Given the description of an element on the screen output the (x, y) to click on. 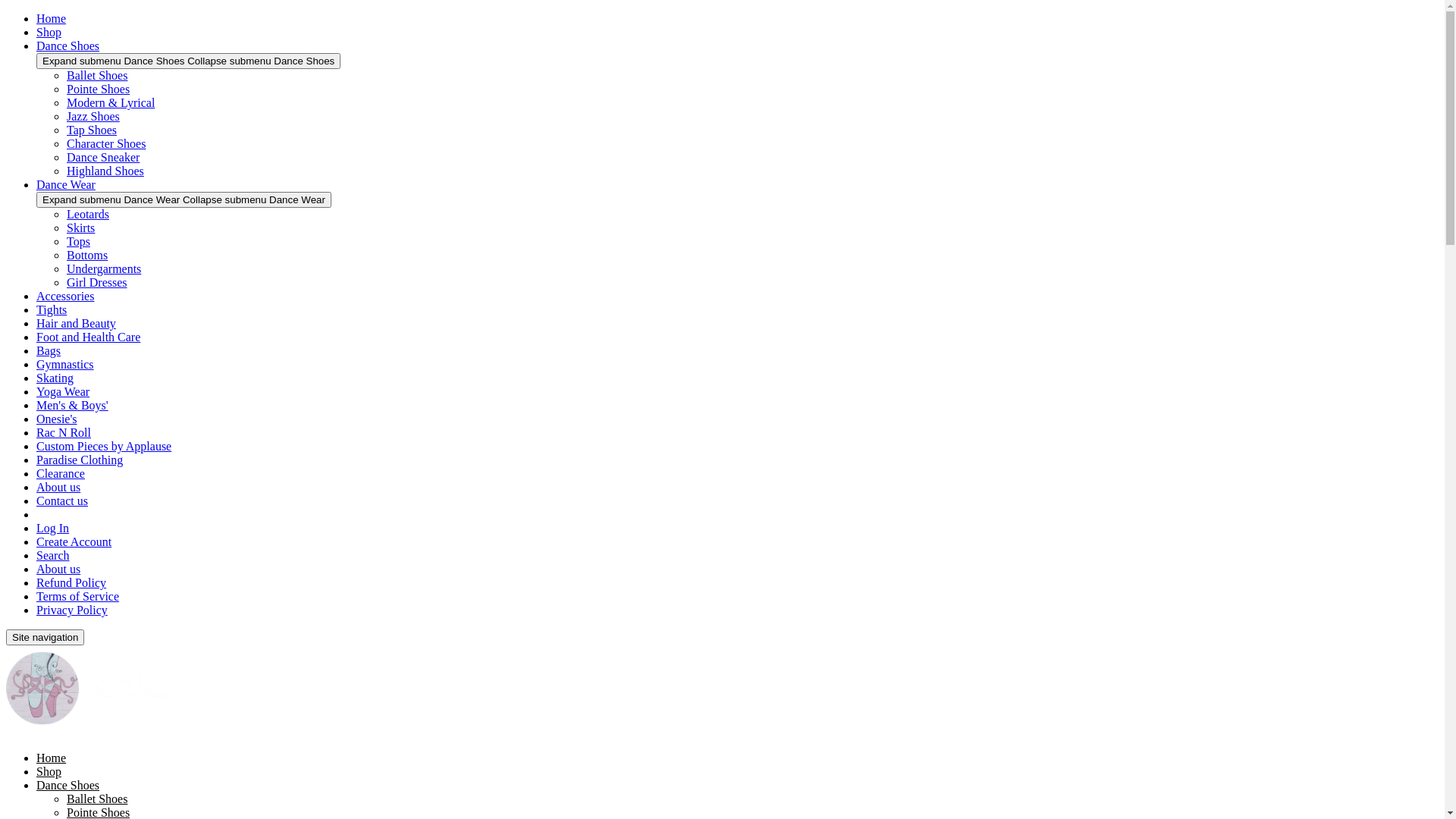
Refund Policy Element type: text (71, 582)
Dance Shoes Element type: text (67, 784)
Pointe Shoes Element type: text (97, 88)
Contact us Element type: text (61, 500)
Tops Element type: text (78, 241)
Skirts Element type: text (80, 227)
Site navigation Element type: text (45, 637)
Dance Shoes Element type: text (67, 45)
About us Element type: text (58, 486)
Skating Element type: text (54, 377)
Home Element type: text (50, 757)
Bags Element type: text (48, 350)
Leotards Element type: text (87, 213)
Privacy Policy Element type: text (71, 609)
Tights Element type: text (51, 309)
Accessories Element type: text (65, 295)
Tap Shoes Element type: text (91, 129)
Hair and Beauty Element type: text (76, 322)
Onesie's Element type: text (56, 418)
Shop Element type: text (48, 771)
Gymnastics Element type: text (65, 363)
Create Account Element type: text (73, 541)
Log In Element type: text (52, 527)
Dance Sneaker Element type: text (102, 156)
About us Element type: text (58, 568)
Paradise Clothing Element type: text (79, 459)
Rac N Roll Element type: text (63, 432)
Home Element type: text (50, 18)
Men's & Boys' Element type: text (72, 404)
Expand submenu Dance Wear Collapse submenu Dance Wear Element type: text (183, 199)
Bottoms Element type: text (86, 254)
Custom Pieces by Applause Element type: text (103, 445)
Highland Shoes Element type: text (105, 170)
Jazz Shoes Element type: text (92, 115)
Modern & Lyrical Element type: text (110, 102)
Character Shoes Element type: text (105, 143)
Foot and Health Care Element type: text (88, 336)
Yoga Wear Element type: text (62, 391)
Undergarments Element type: text (103, 268)
Ballet Shoes Element type: text (96, 75)
Girl Dresses Element type: text (96, 282)
Terms of Service Element type: text (77, 595)
Clearance Element type: text (60, 473)
Search Element type: text (52, 555)
Dance Wear Element type: text (65, 184)
Ballet Shoes Element type: text (96, 798)
Shop Element type: text (48, 31)
Expand submenu Dance Shoes Collapse submenu Dance Shoes Element type: text (188, 61)
